Given the description of an element on the screen output the (x, y) to click on. 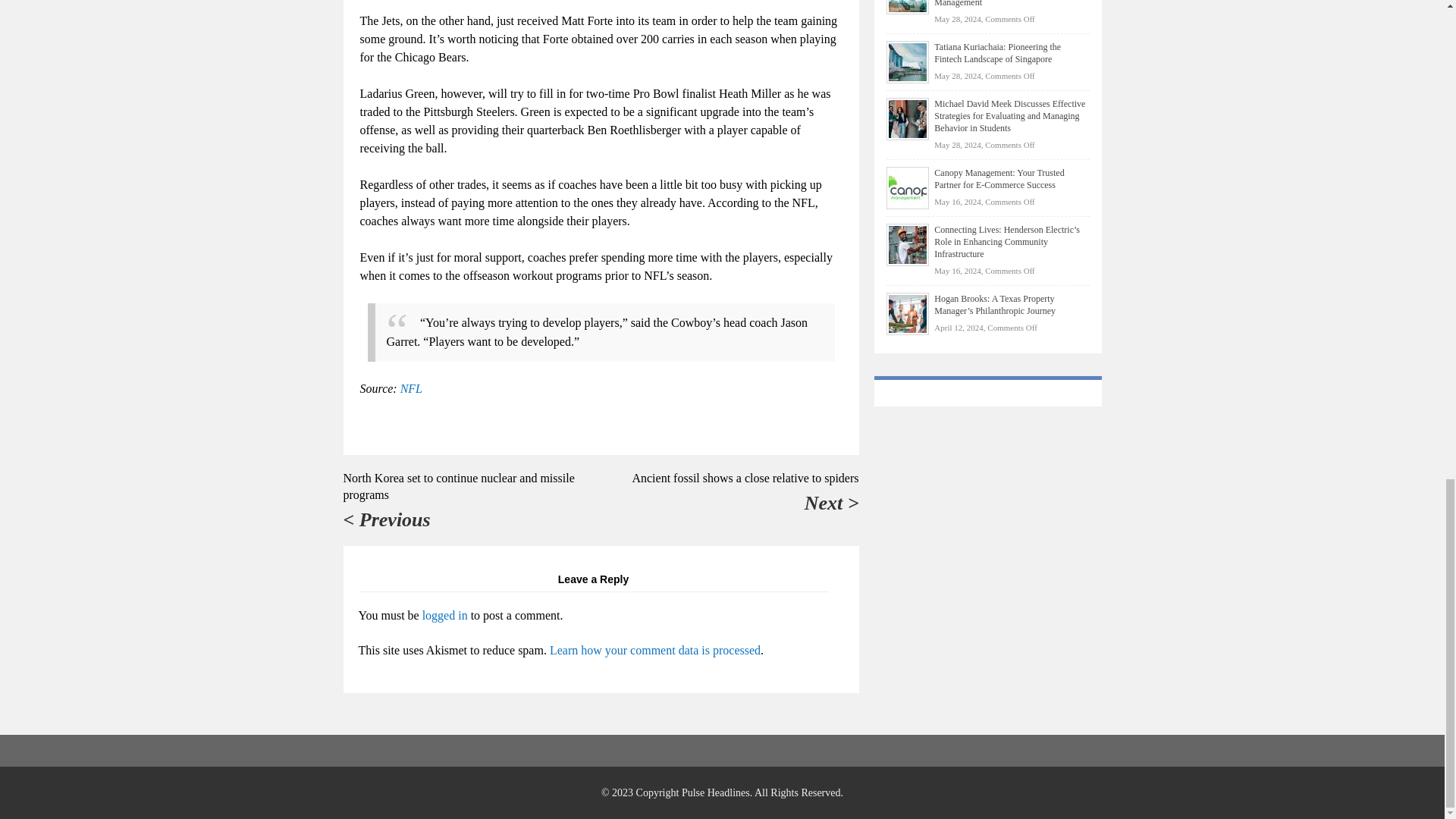
logged in (444, 615)
North Korea set to continue nuclear and missile programs (457, 486)
NFL (411, 388)
Ancient fossil shows a close relative to spiders (745, 477)
Learn how your comment data is processed (655, 649)
